Given the description of an element on the screen output the (x, y) to click on. 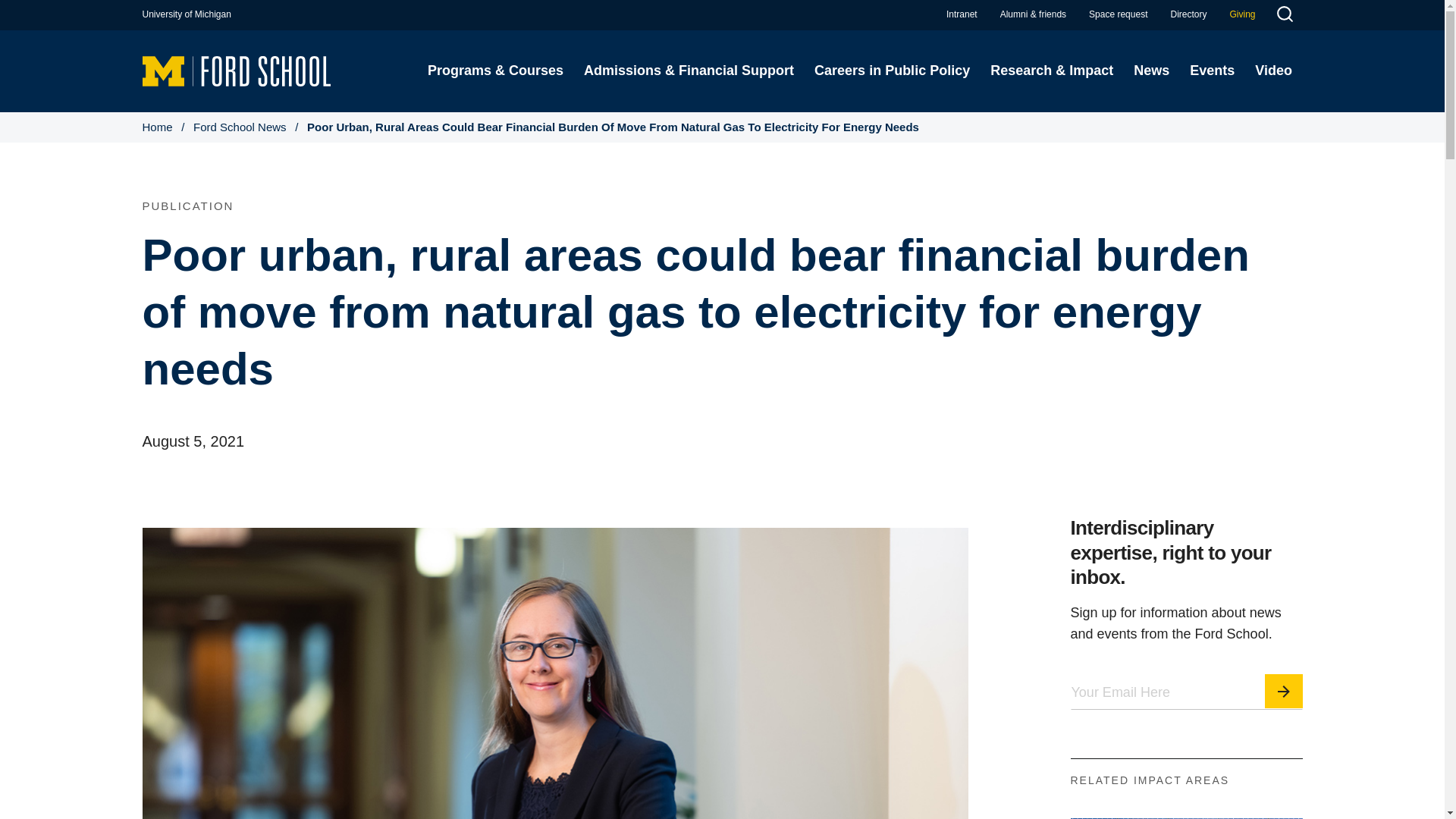
Ford School faculty, staff, and student contacts (1188, 14)
Intranet (961, 14)
Subscribe (1284, 691)
Home (236, 69)
Give to the Ford School (1241, 14)
Search Toggle (1283, 15)
Ford School academic program and course information (494, 71)
A connected community to each other, and to the world (1032, 14)
Space request (1118, 14)
